Given the description of an element on the screen output the (x, y) to click on. 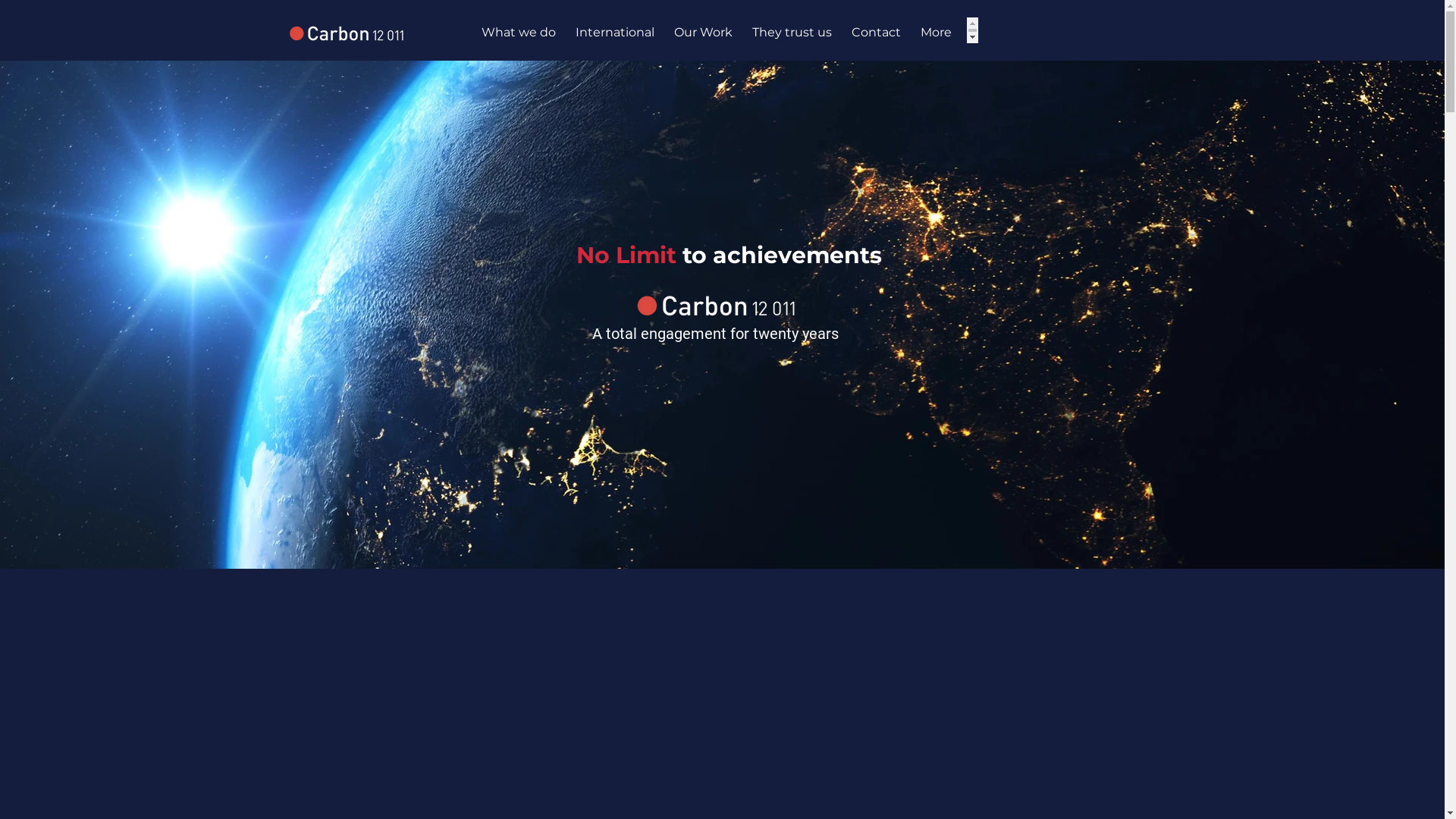
They trust us Element type: text (790, 30)
Contact Element type: text (875, 30)
International Element type: text (614, 30)
Our Work Element type: text (703, 30)
What we do Element type: text (518, 30)
